Given the description of an element on the screen output the (x, y) to click on. 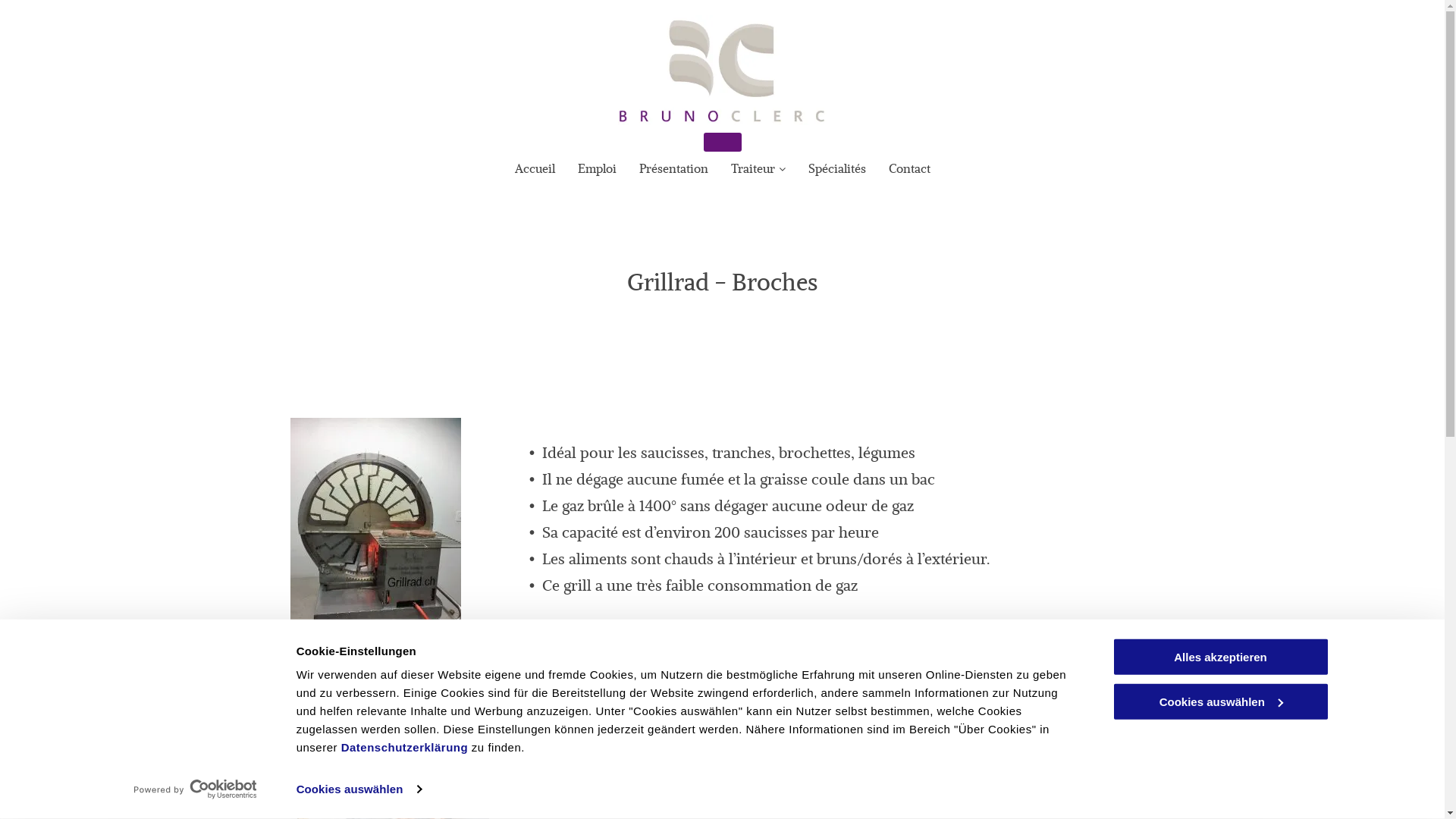
bruno.clerc@bluewin.ch Element type: text (717, 805)
Alles akzeptieren Element type: text (1219, 656)
Emploi Element type: text (596, 168)
Accueil Element type: text (534, 168)
Traiteur Element type: text (758, 168)
Contact Element type: text (909, 168)
026 652 23 93 Element type: text (607, 779)
